Given the description of an element on the screen output the (x, y) to click on. 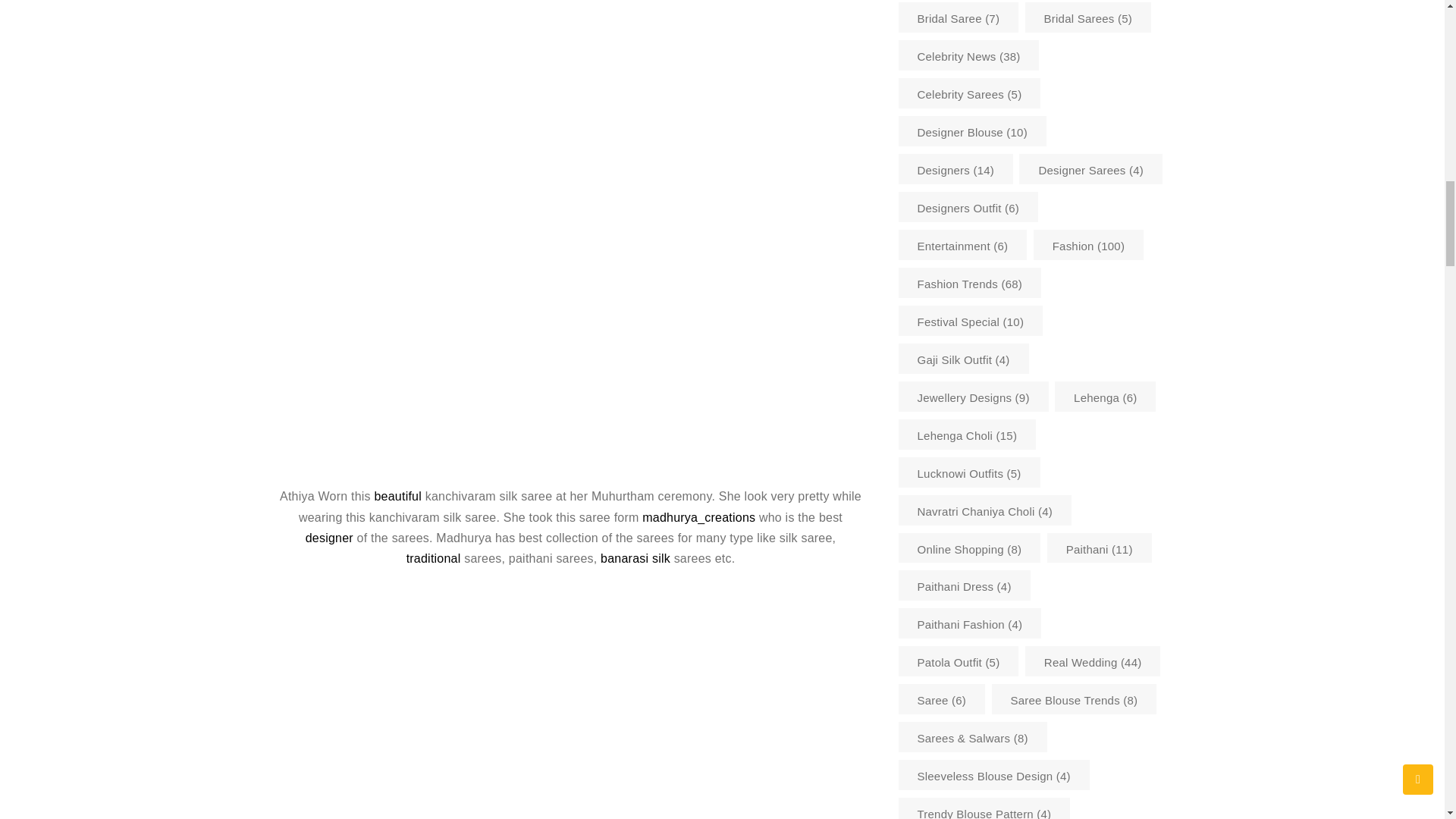
traditional (435, 558)
beautiful (399, 495)
designer (330, 537)
banarasi silk (634, 558)
